Given the description of an element on the screen output the (x, y) to click on. 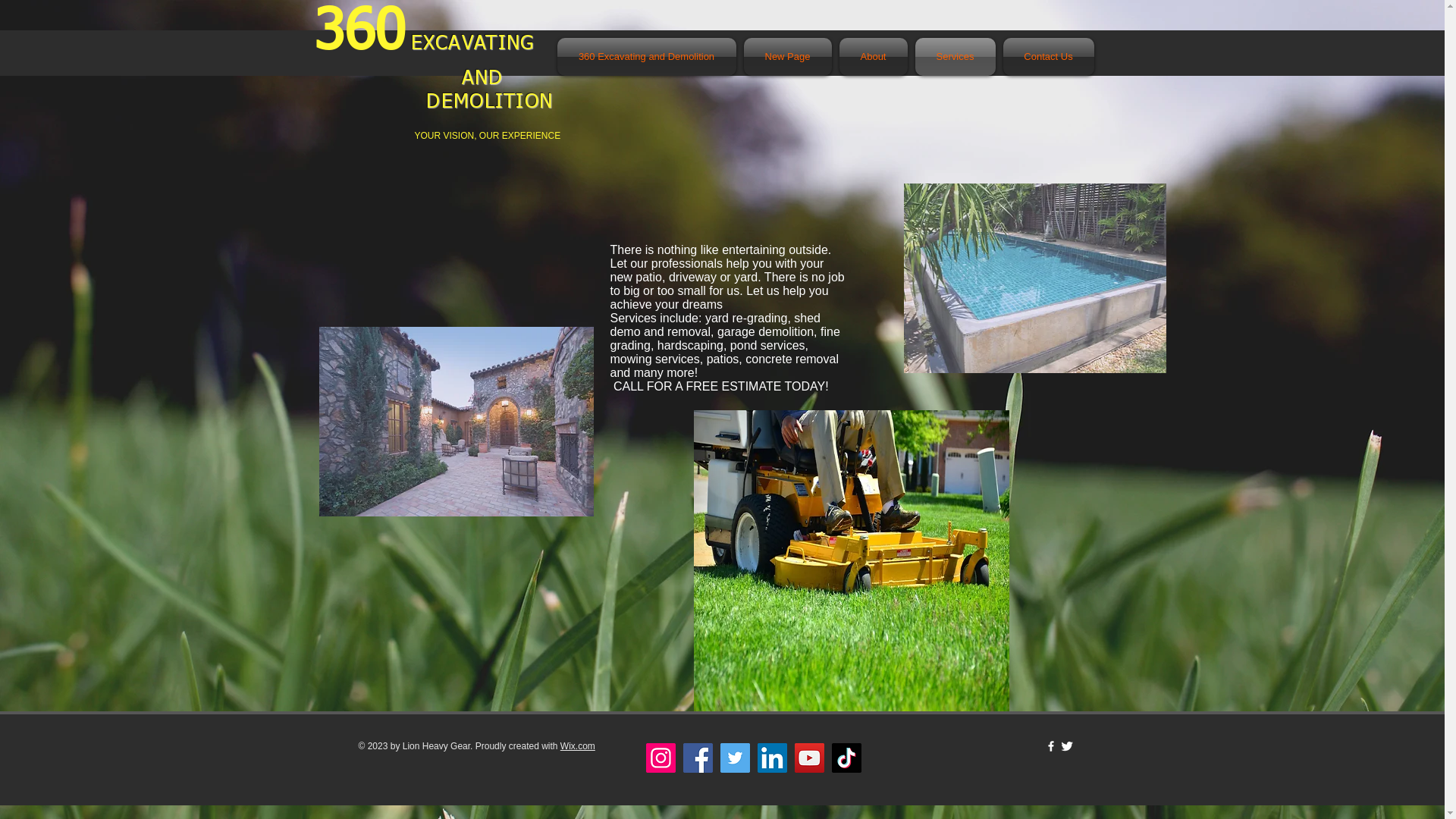
360 Excavating and Demolition Element type: text (647, 56)
Services Element type: text (955, 56)
About Element type: text (873, 56)
New Page Element type: text (787, 56)
Wix.com Element type: text (577, 745)
Contact Us Element type: text (1046, 56)
